Given the description of an element on the screen output the (x, y) to click on. 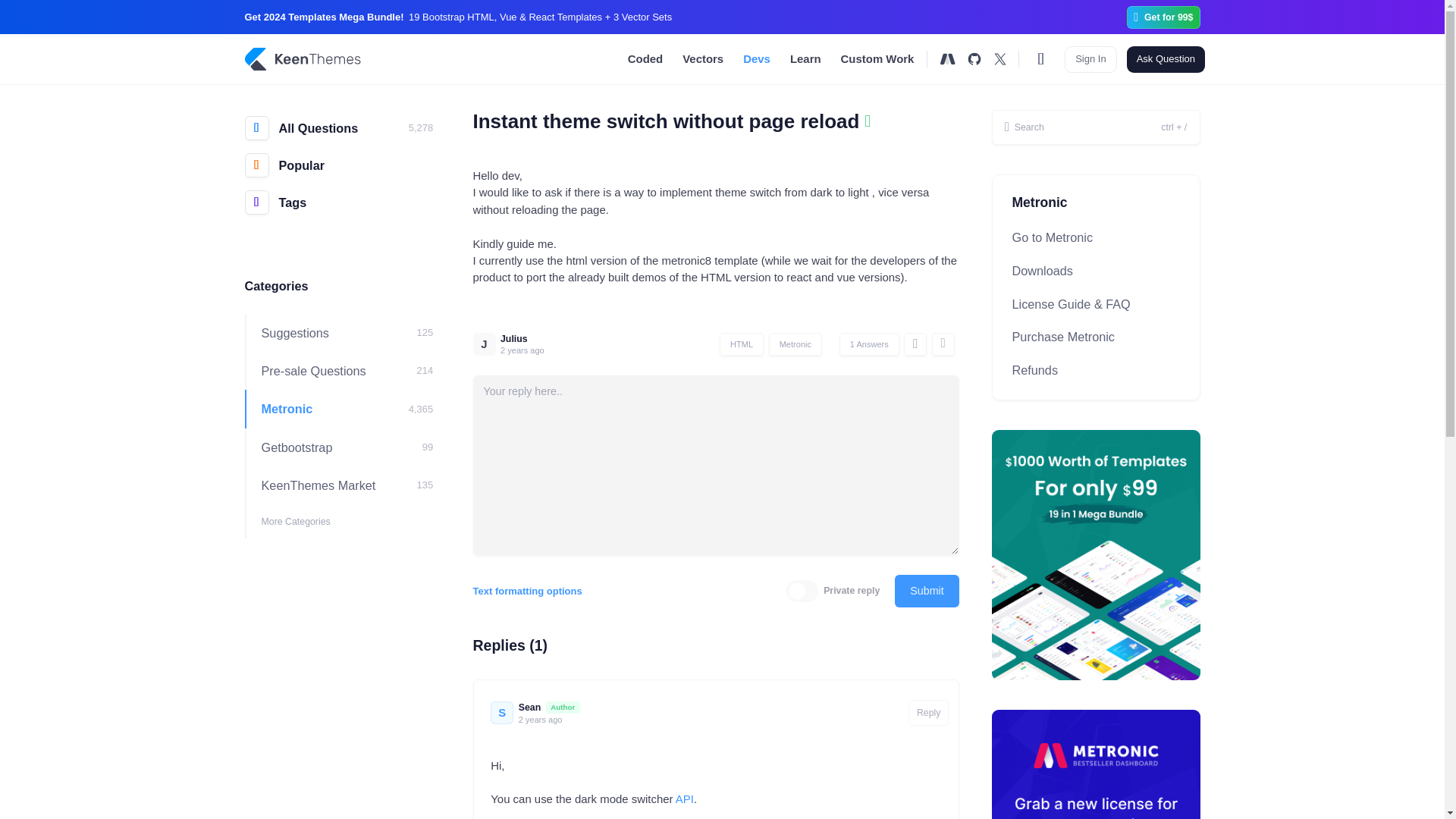
Keenthemes team (562, 707)
Check out Metronic, our most popular dashboard template (947, 58)
02 Jun, 2022 6:19 PM UTC (522, 349)
03 Jun, 2022 2:03 PM UTC (540, 719)
By Sean 2 years ago (869, 343)
Private message will be shown only to Support agent. (833, 591)
Custom Work (876, 59)
0 (802, 590)
